Given the description of an element on the screen output the (x, y) to click on. 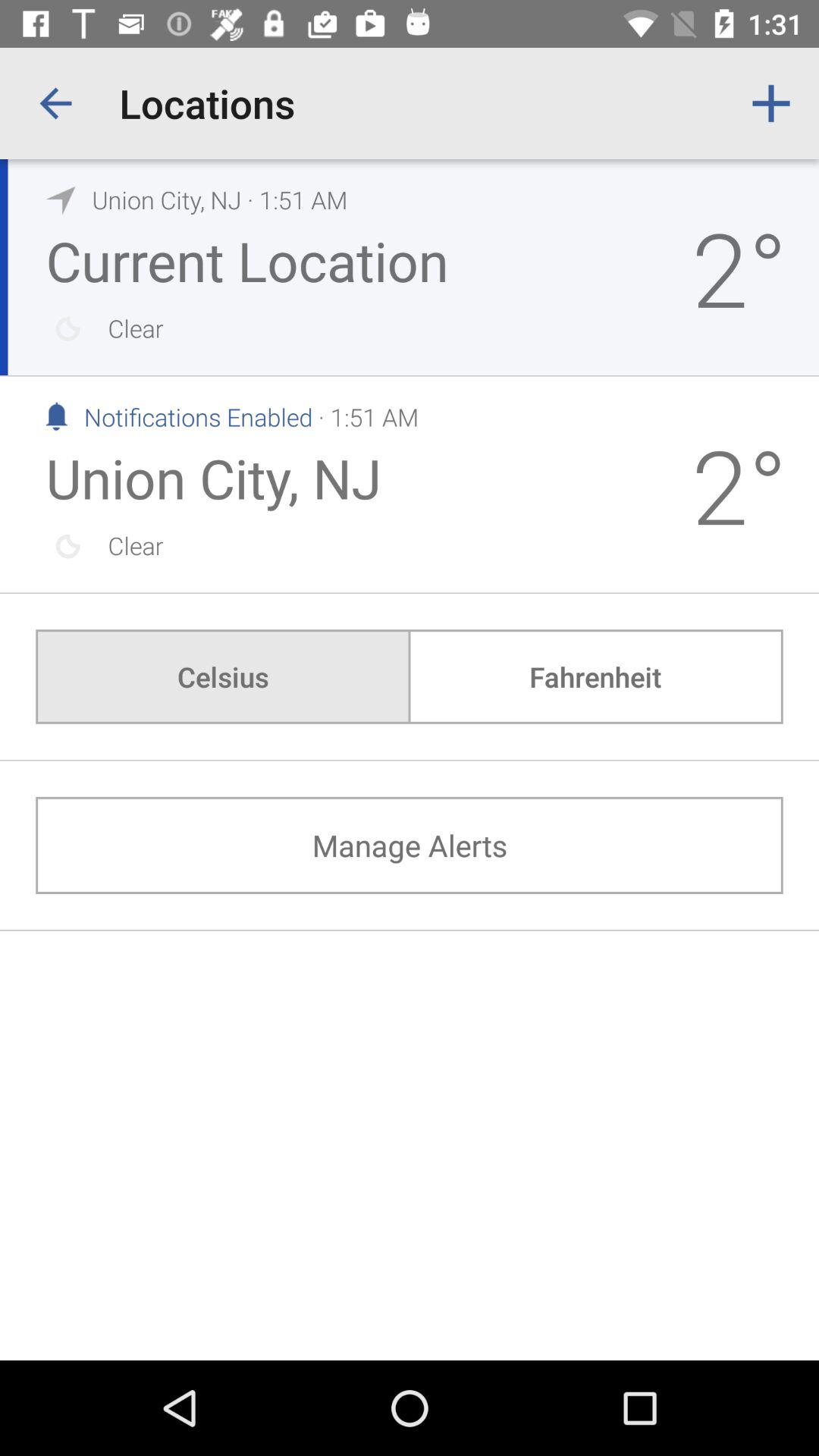
turn on the manage alerts icon (409, 845)
